Given the description of an element on the screen output the (x, y) to click on. 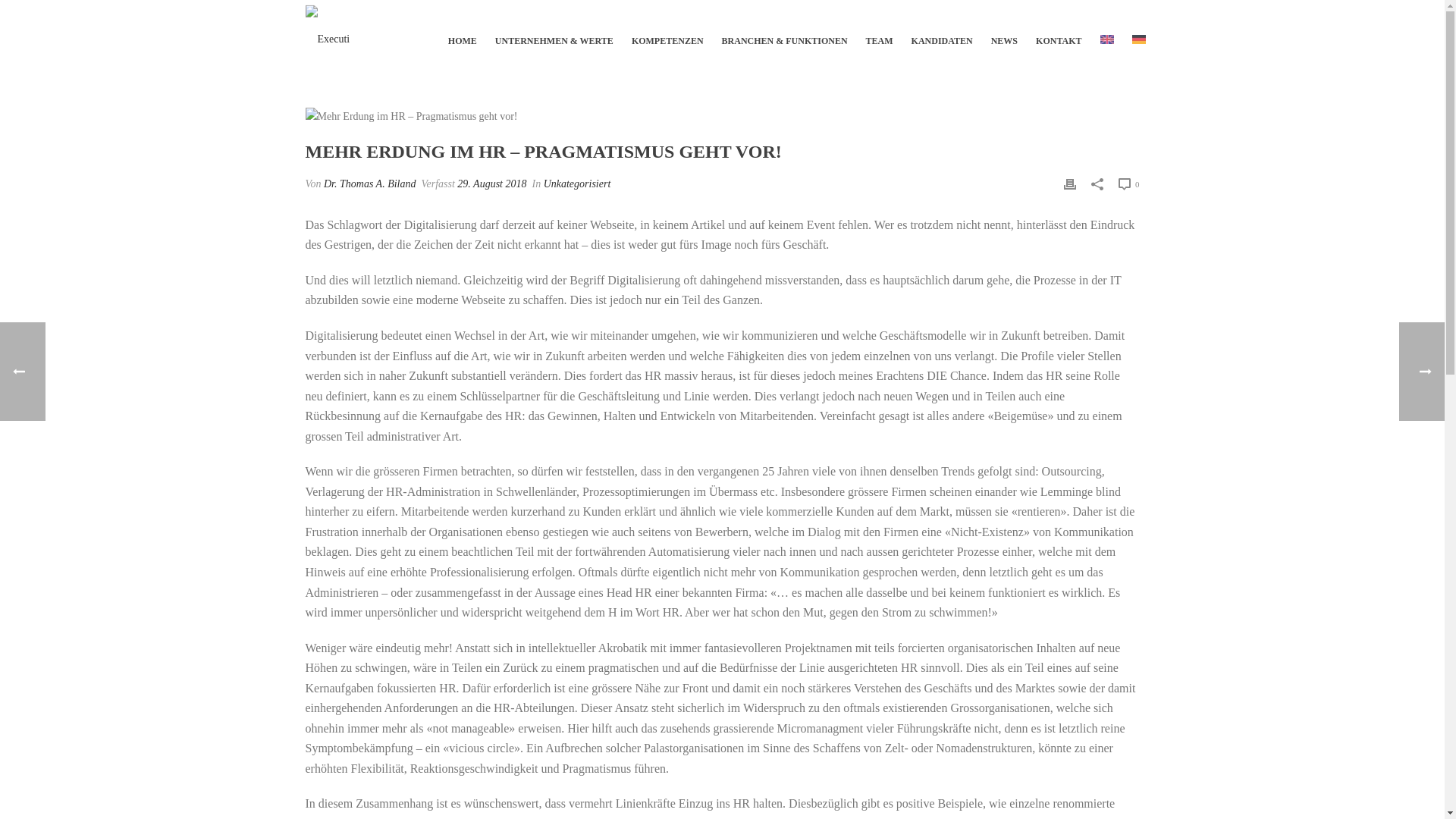
KANDIDATEN Element type: text (942, 34)
0 Element type: text (1128, 184)
Unkategorisiert Element type: text (577, 183)
Dr. Thomas A. Biland Element type: text (369, 183)
KOMPETENZEN Element type: text (667, 34)
TEAM Element type: text (879, 34)
NEWS Element type: text (1004, 34)
Drucken Element type: hover (1069, 183)
29. August 2018 Element type: text (491, 183)
BRANCHEN & FUNKTIONEN Element type: text (784, 34)
UNTERNEHMEN & WERTE Element type: text (554, 34)
KONTAKT Element type: text (1058, 34)
HOME Element type: text (462, 34)
